Given the description of an element on the screen output the (x, y) to click on. 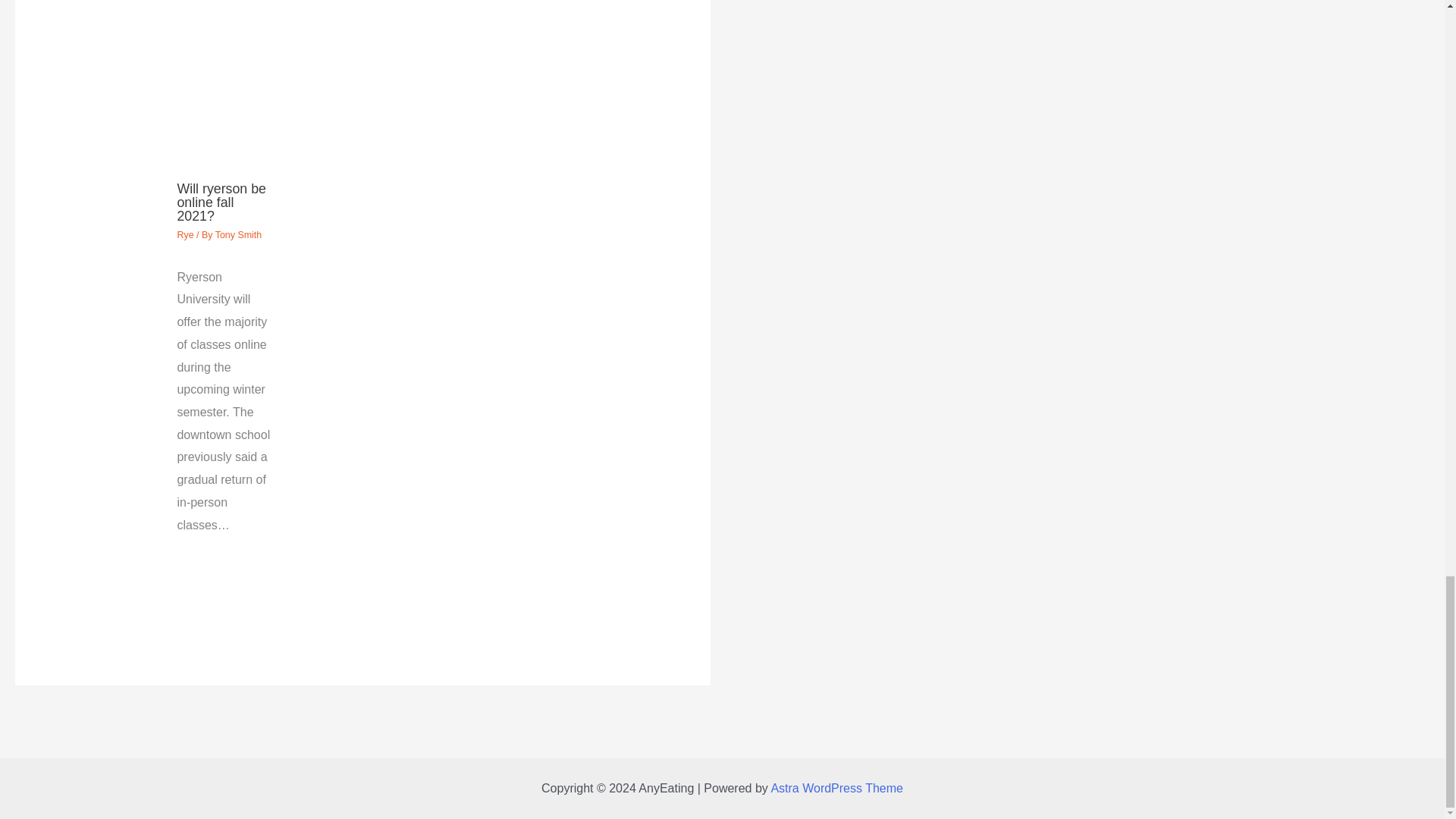
Will ryerson be online fall 2021? (220, 201)
Tony Smith (238, 235)
Rye (184, 235)
View all posts by Tony Smith (238, 235)
